Given the description of an element on the screen output the (x, y) to click on. 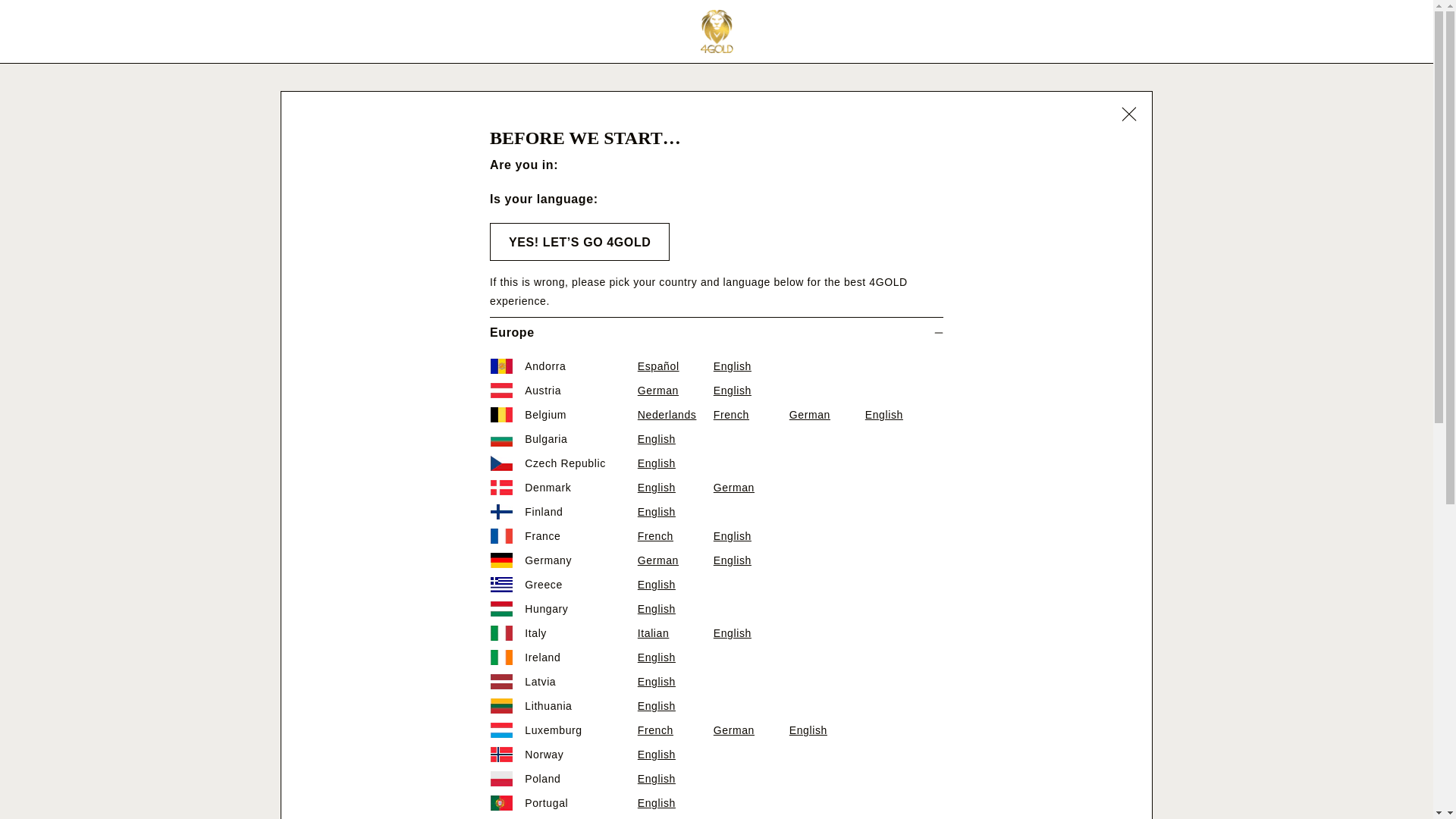
English (751, 633)
Italian (675, 633)
English (826, 730)
English (751, 536)
English (902, 415)
English (675, 754)
English (675, 609)
English (751, 390)
English (675, 657)
Nederlands (675, 415)
German (675, 390)
French (751, 415)
French (675, 730)
English (751, 366)
German (826, 415)
